Given the description of an element on the screen output the (x, y) to click on. 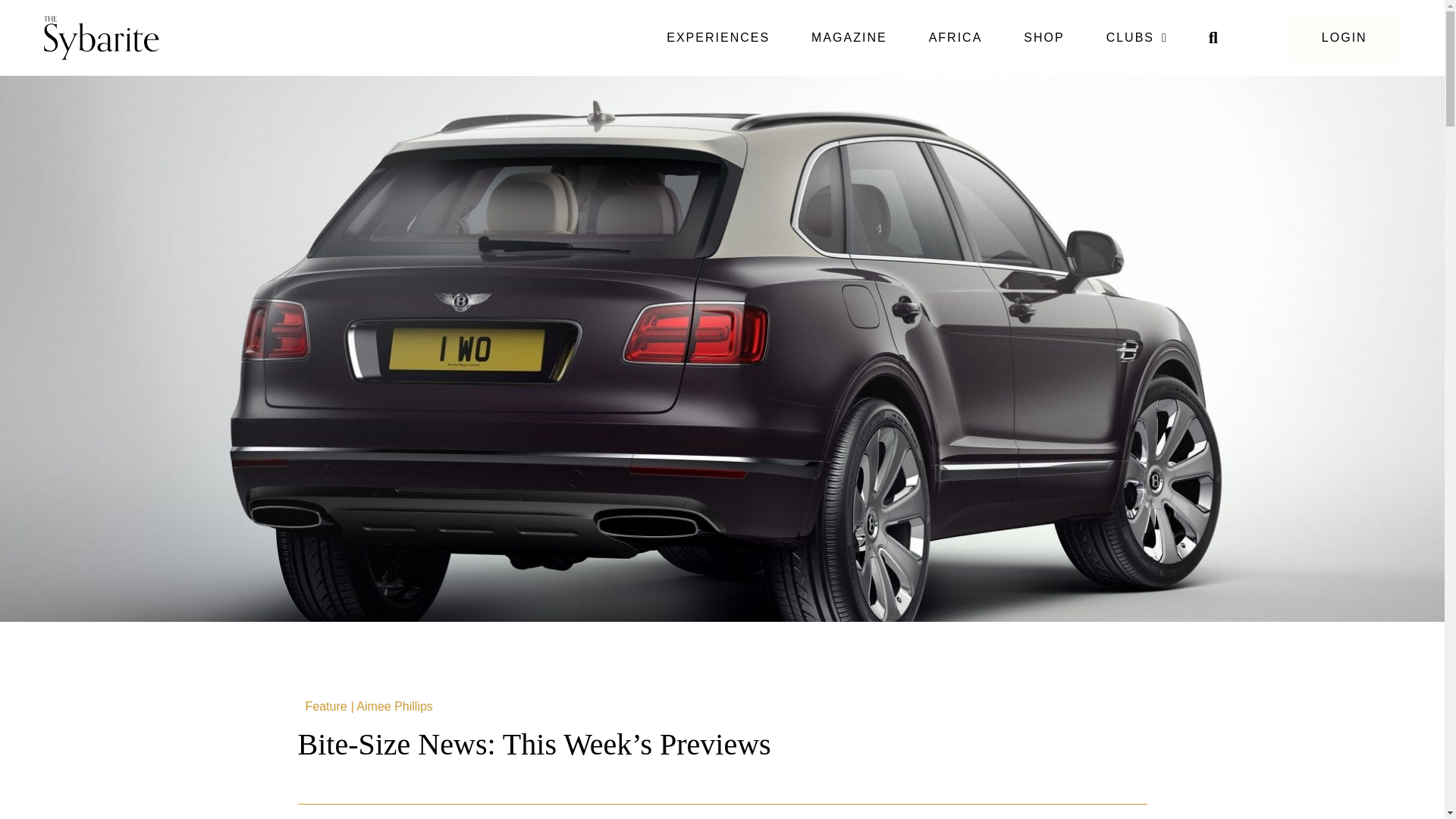
CLUBS (1136, 37)
LOGIN (1343, 37)
AFRICA (955, 37)
EXPERIENCES (718, 37)
MAGAZINE (848, 37)
SHOP (1043, 37)
